Given the description of an element on the screen output the (x, y) to click on. 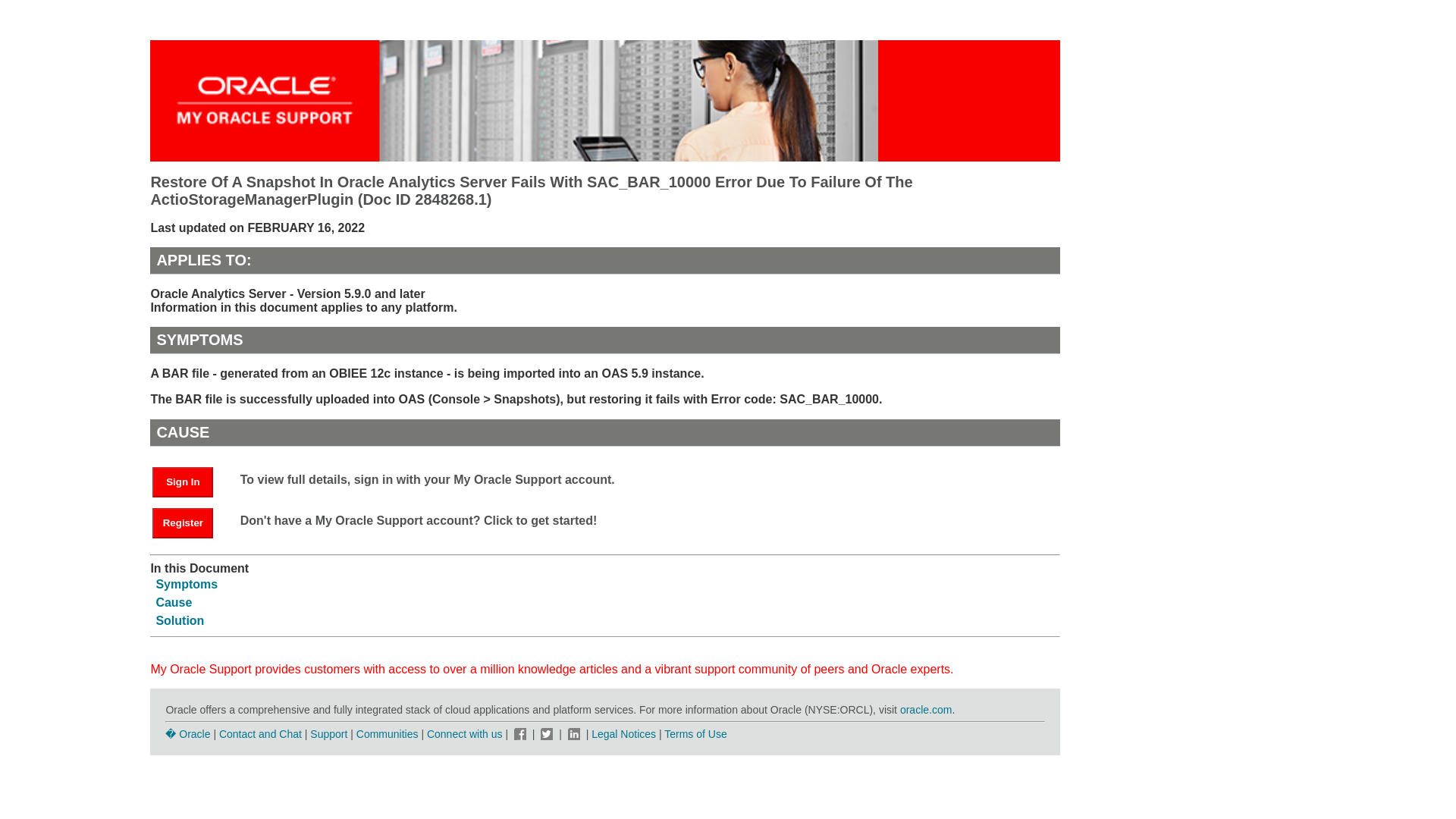
Legal Notices (623, 734)
oracle.com (925, 709)
Terms of Use (694, 734)
Cause (173, 602)
Register (182, 522)
oracle.com (925, 709)
Support (328, 734)
Sign In (182, 481)
Connect with us (465, 734)
Contact and Chat (260, 734)
Symptoms (185, 584)
Communities (387, 734)
Register (190, 521)
Solution (179, 620)
Sign In (190, 481)
